Given the description of an element on the screen output the (x, y) to click on. 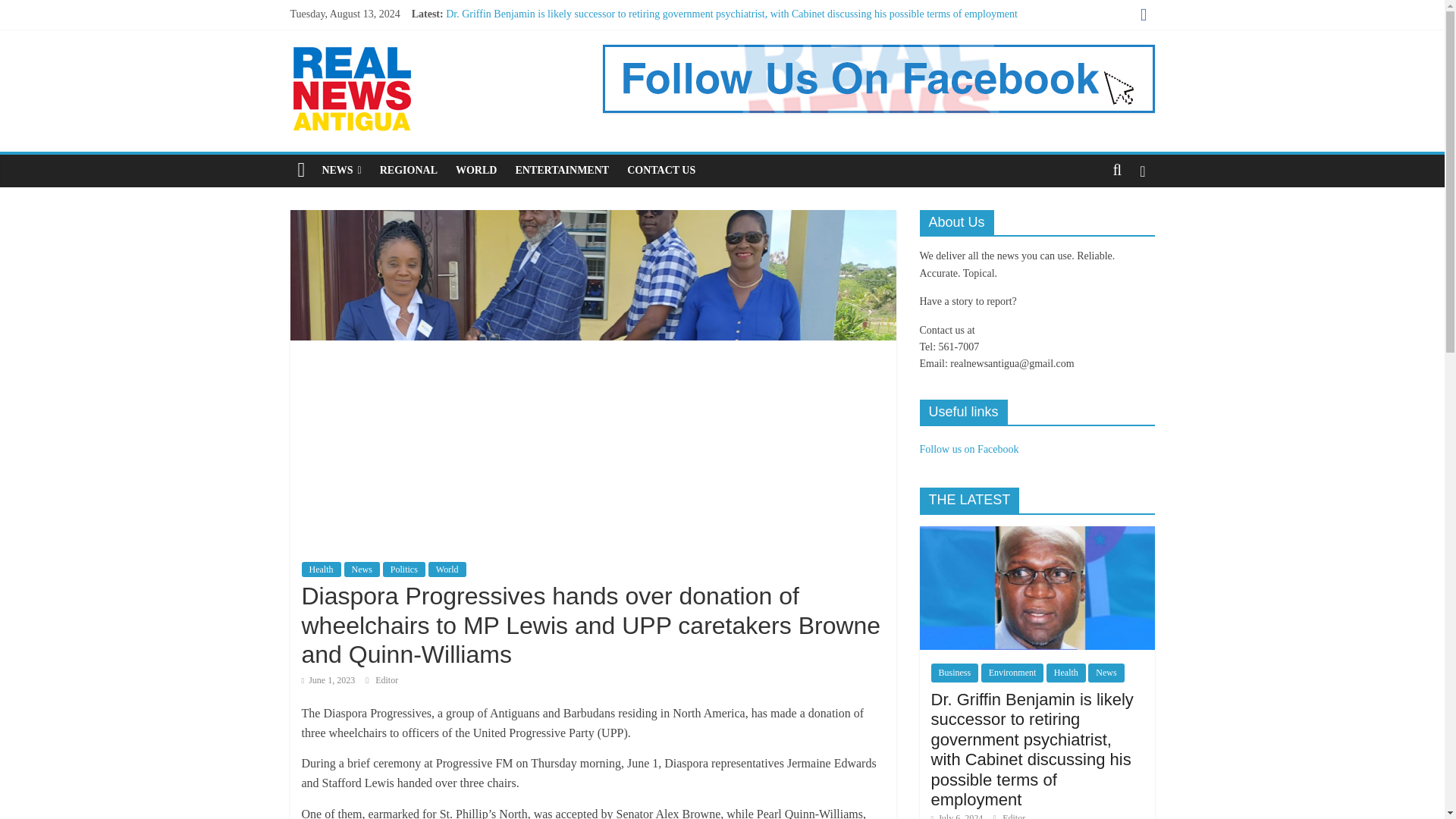
News (361, 569)
NEWS (341, 170)
World (446, 569)
ENTERTAINMENT (561, 170)
June 1, 2023 (328, 679)
Health (320, 569)
WORLD (475, 170)
